Given the description of an element on the screen output the (x, y) to click on. 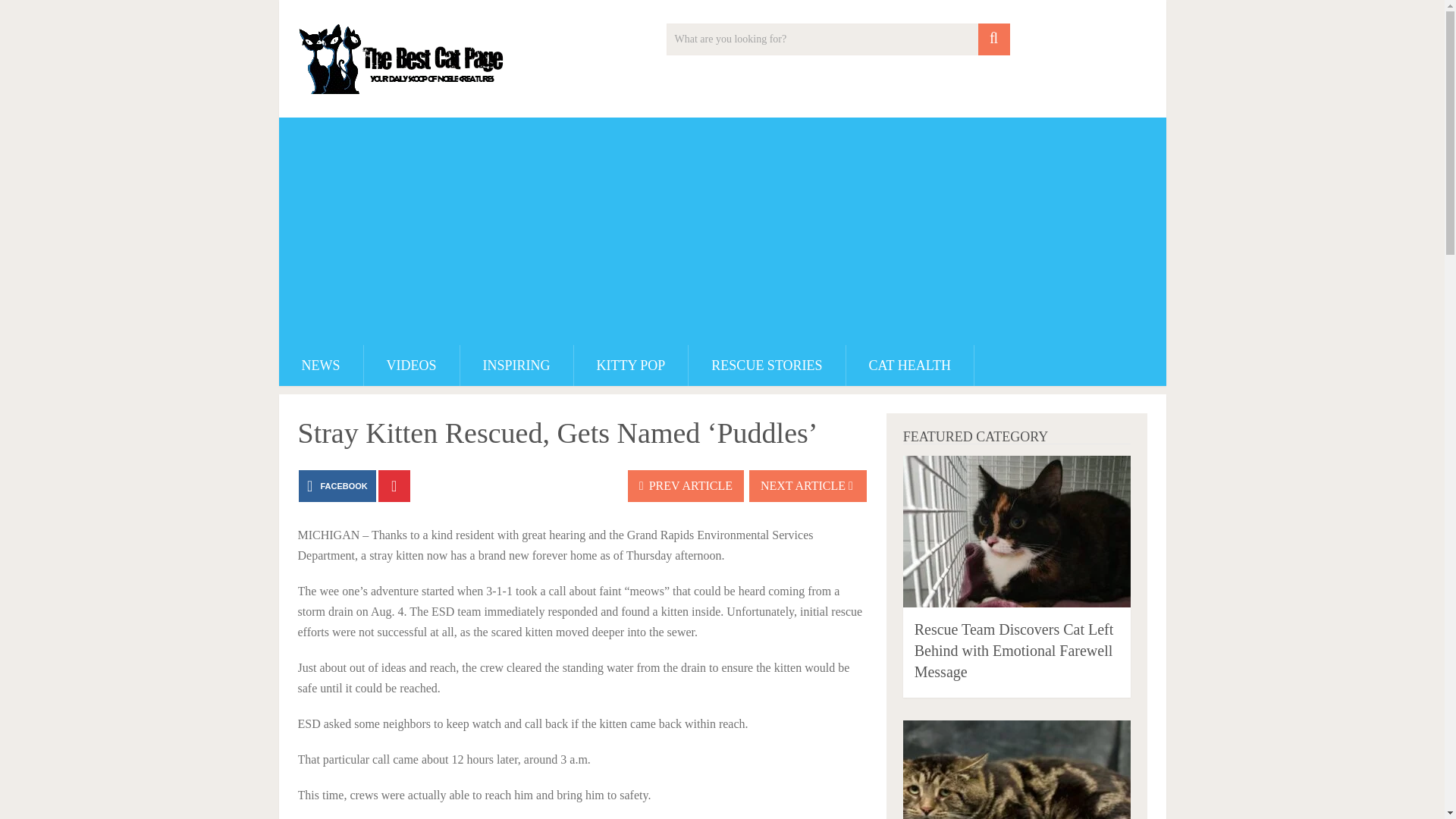
PREV ARTICLE (685, 486)
INSPIRING (516, 364)
NEXT ARTICLE (807, 486)
CAT HEALTH (909, 364)
VIDEOS (412, 364)
RESCUE STORIES (766, 364)
NEWS (320, 364)
FACEBOOK (336, 486)
KITTY POP (630, 364)
